Given the description of an element on the screen output the (x, y) to click on. 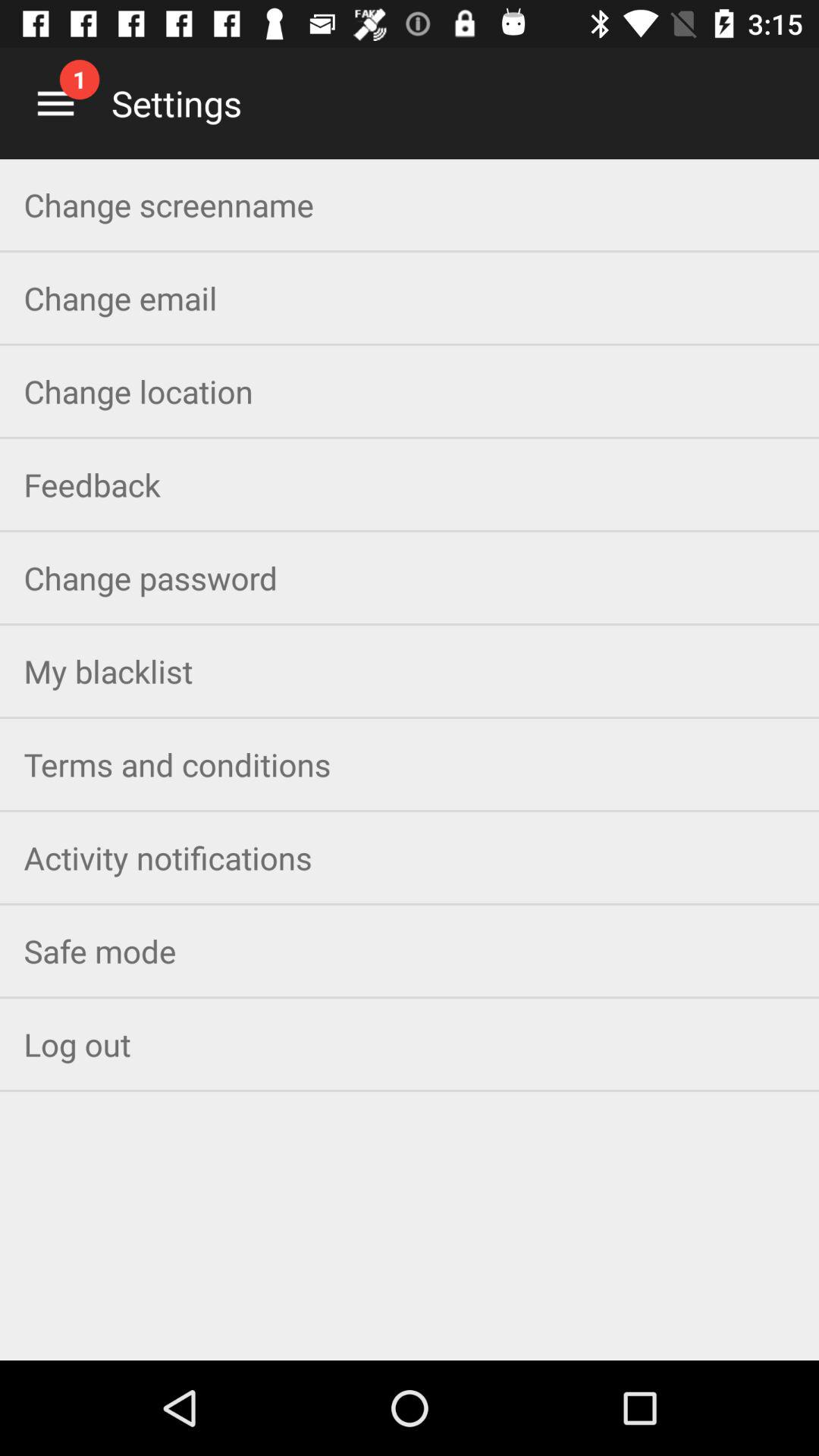
view menu (55, 103)
